Given the description of an element on the screen output the (x, y) to click on. 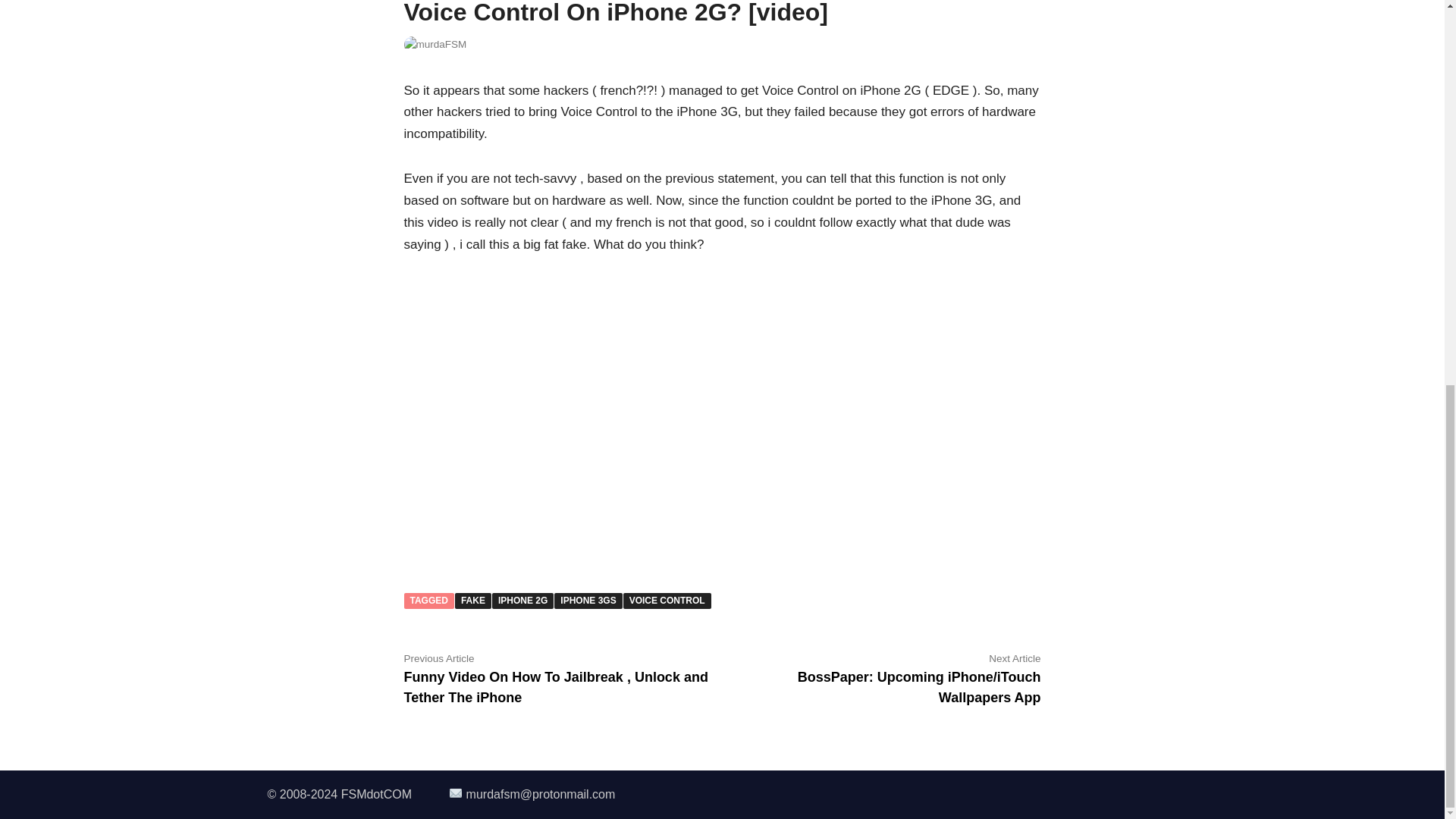
FAKE (473, 600)
IPHONE 2G (522, 600)
VOICE CONTROL (667, 600)
IPHONE 3GS (587, 600)
